Given the description of an element on the screen output the (x, y) to click on. 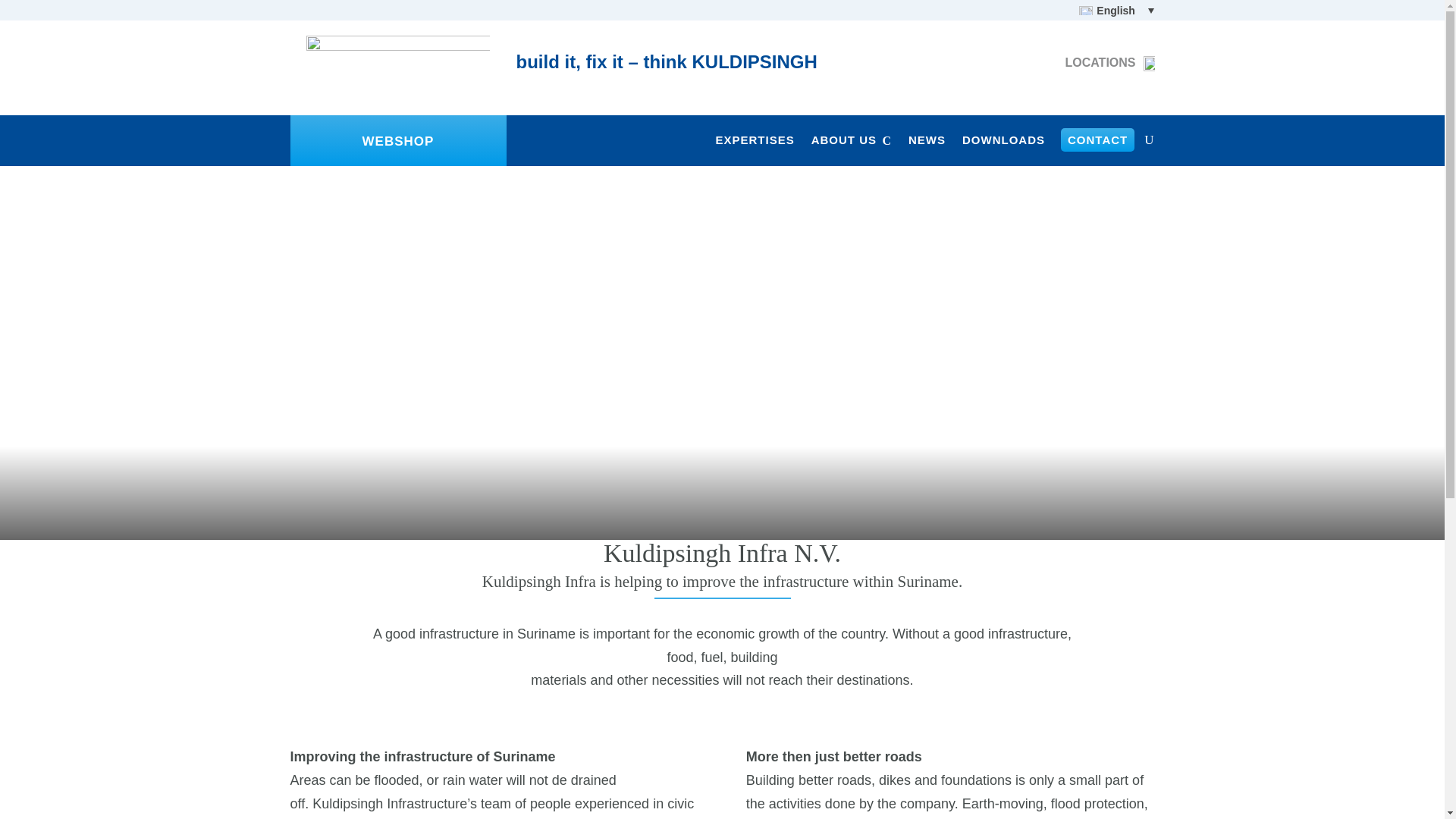
DOWNLOADS (1003, 143)
English (1112, 10)
EXPERTISES (753, 143)
Kuldipsingh-logo-kleur (397, 71)
NEWS (926, 143)
ABOUT US (850, 143)
CONTACT (1096, 143)
WEBSHOP (397, 141)
